Given the description of an element on the screen output the (x, y) to click on. 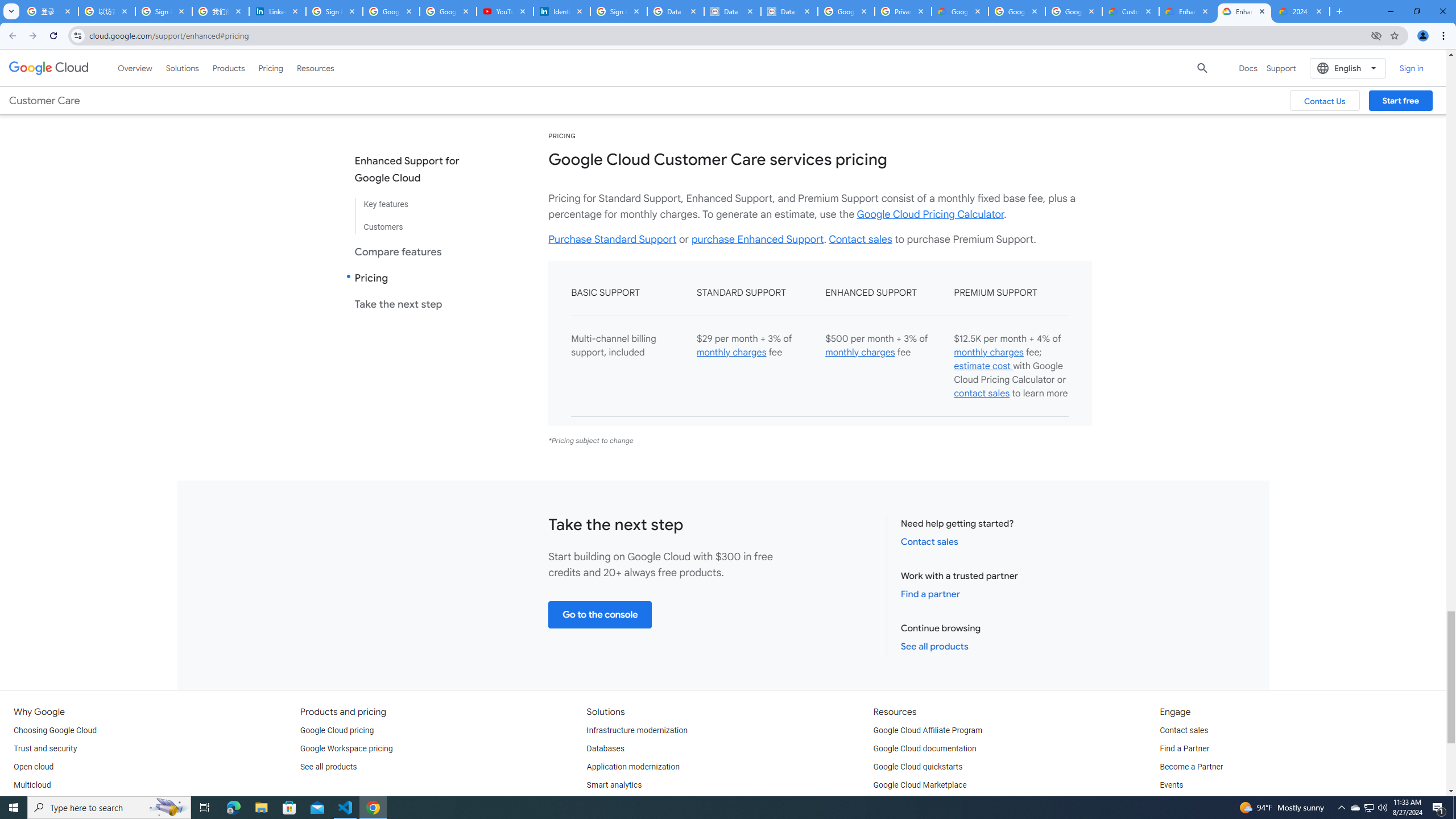
Resources (314, 67)
Contact Us (1324, 100)
Enhanced Support | Google Cloud (1187, 11)
Sign in - Google Accounts (334, 11)
Enhanced Support | Google Cloud (1244, 11)
Find a Partner (1183, 748)
Trust and security (45, 748)
LinkedIn Privacy Policy (277, 11)
